Given the description of an element on the screen output the (x, y) to click on. 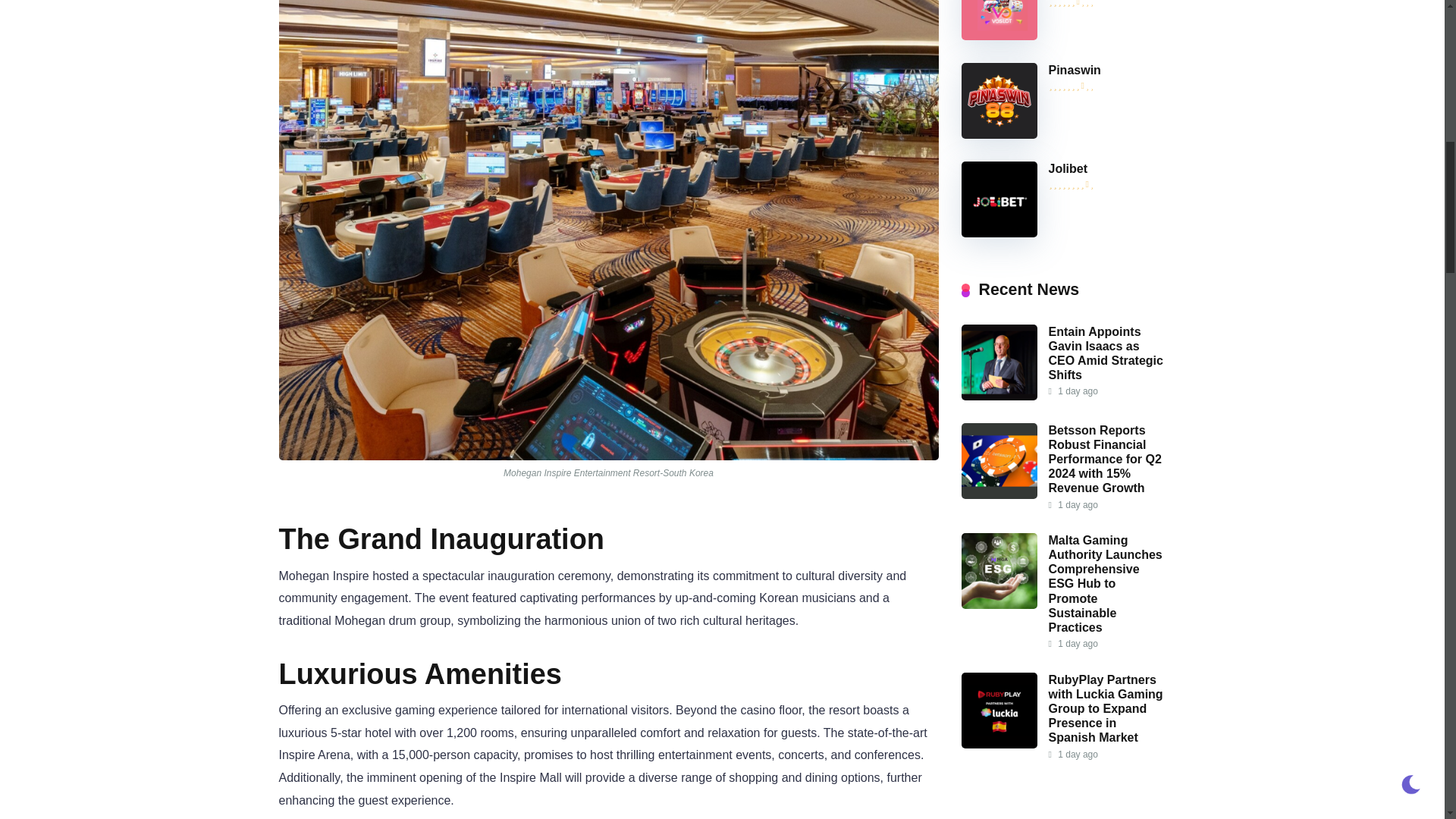
Pinaswin (1074, 69)
Voslot Online Casino (998, 35)
